Given the description of an element on the screen output the (x, y) to click on. 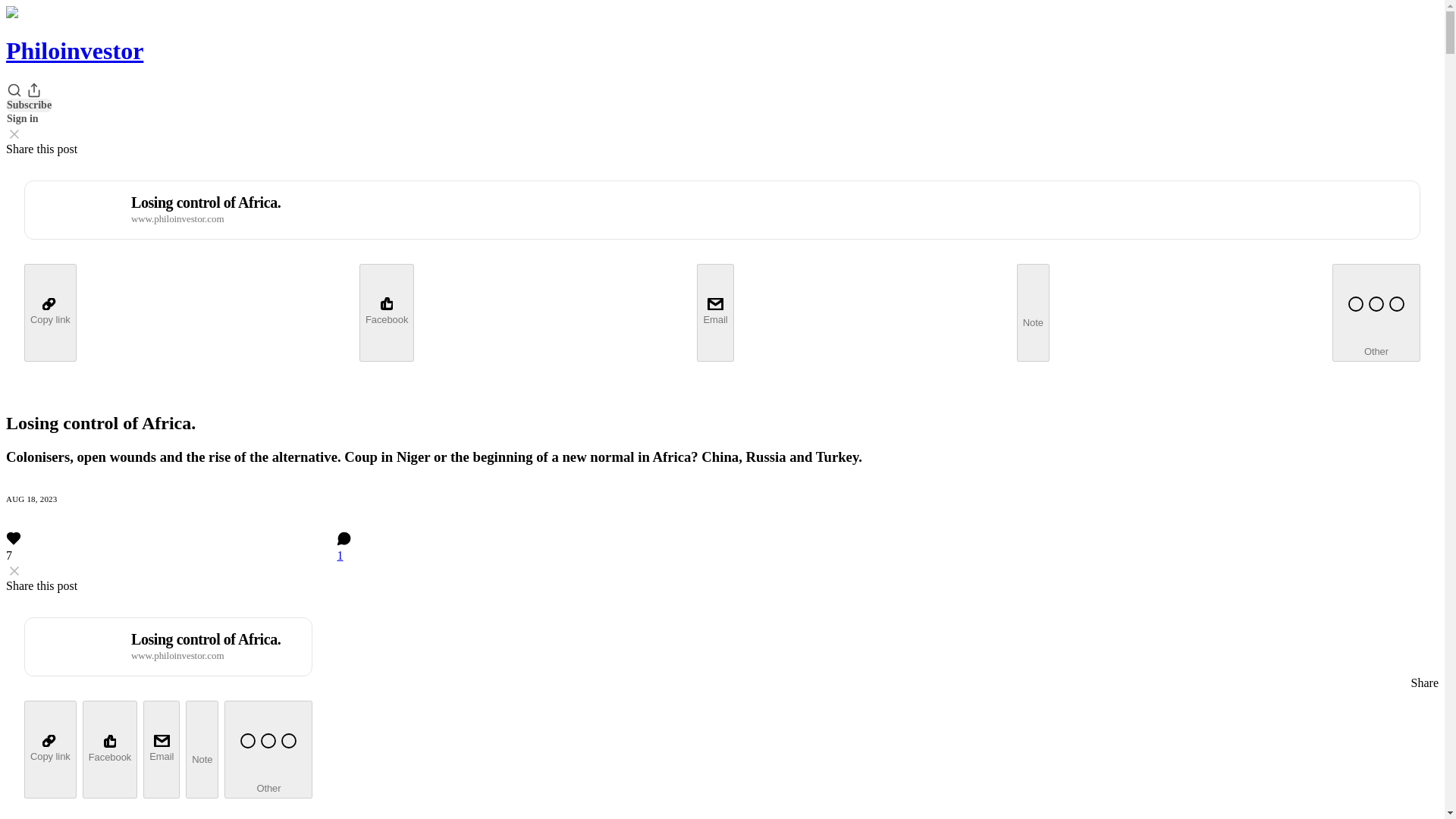
7 (167, 548)
Other (268, 749)
Other (1376, 312)
Subscribe (28, 105)
Philoinvestor (73, 50)
Sign in (22, 119)
